Given the description of an element on the screen output the (x, y) to click on. 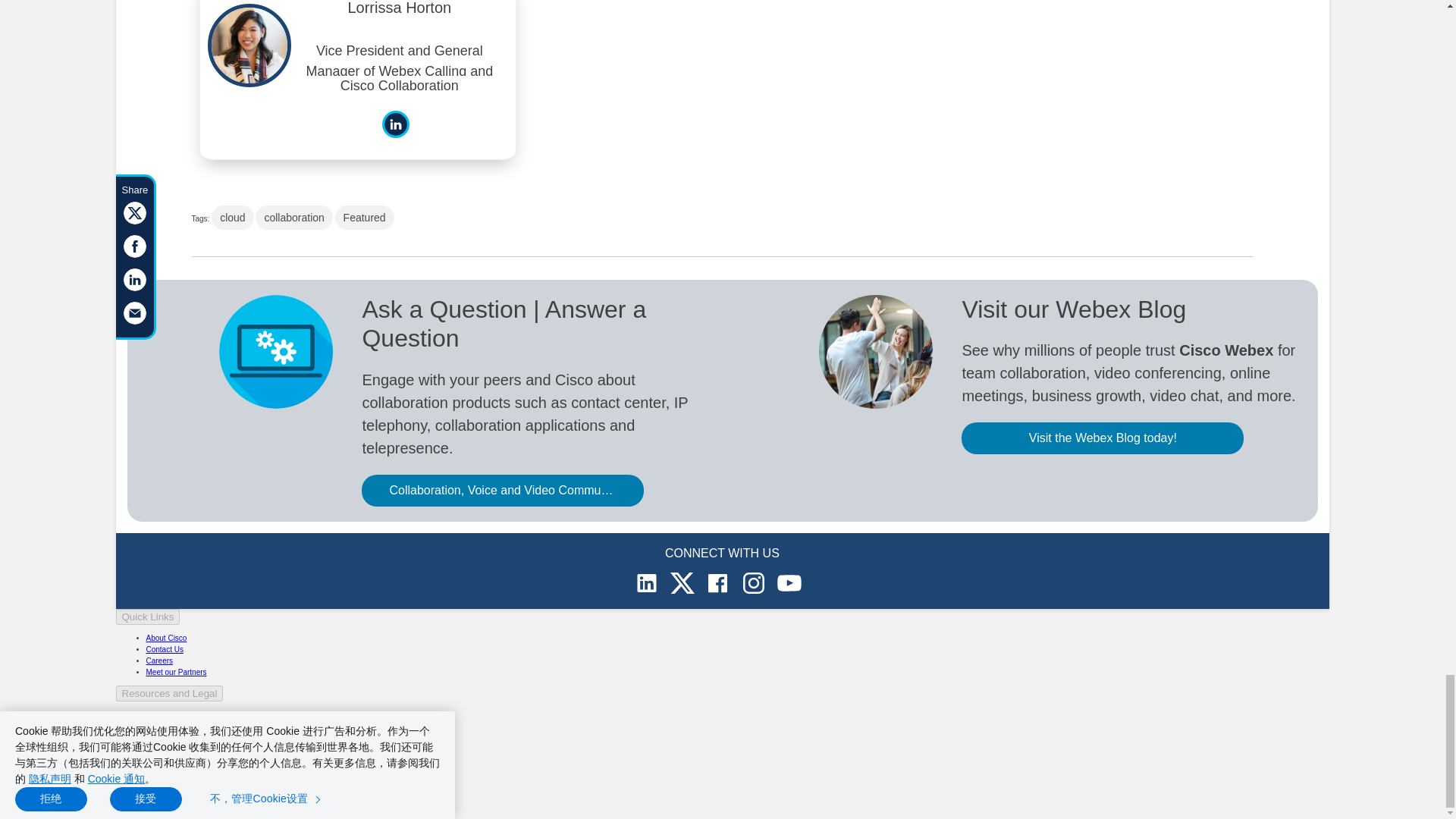
collaboration (293, 217)
Collaboration, Voice and Video Community (502, 490)
cloud (232, 217)
Featured (364, 217)
Lorrissa Horton (399, 13)
